Given the description of an element on the screen output the (x, y) to click on. 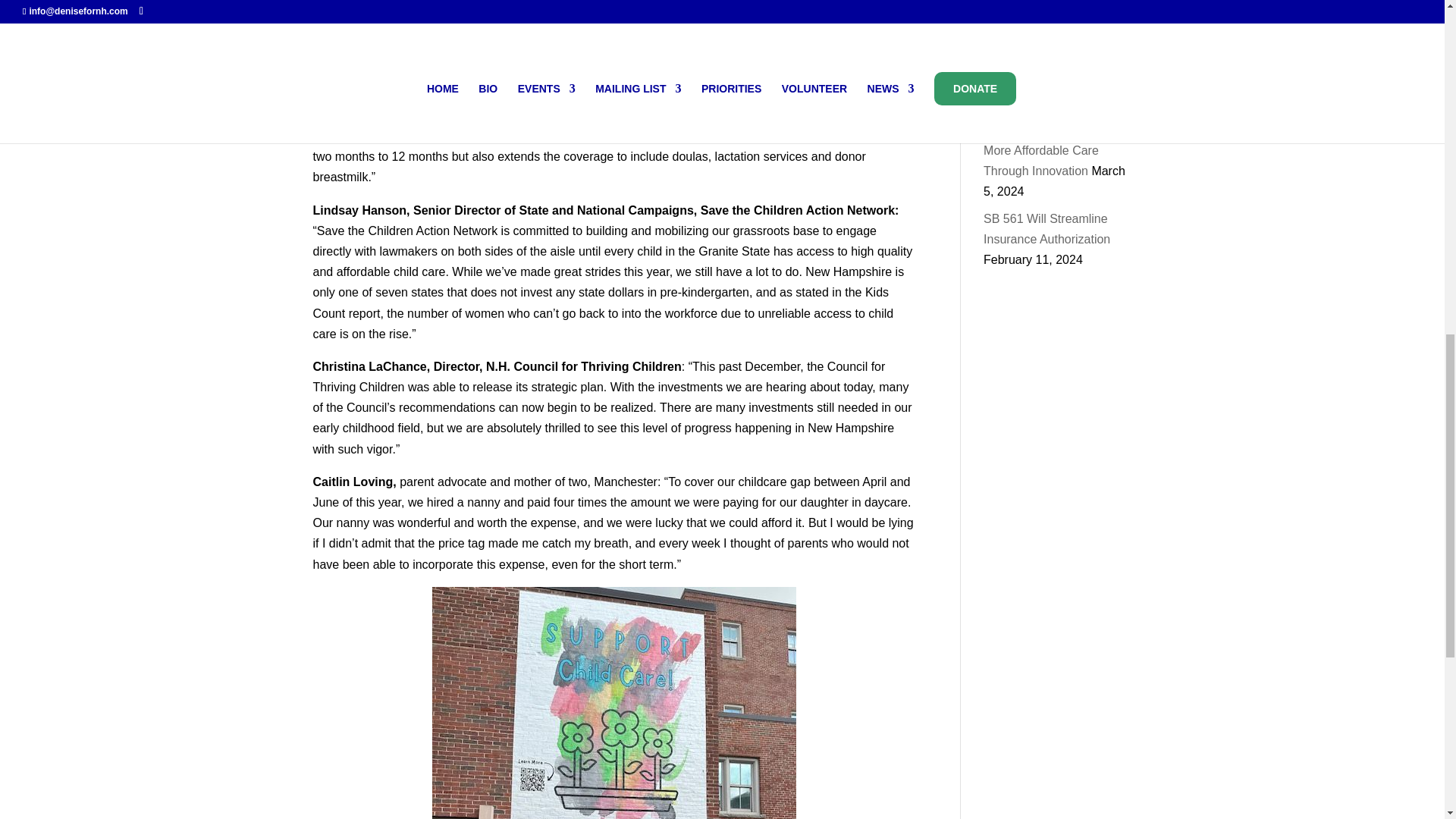
On the Passage of SB 413 (1055, 14)
Ricciardi Wins Award for Water Legislation (1049, 71)
SB 561 Will Streamline Insurance Authorization (1046, 228)
